Given the description of an element on the screen output the (x, y) to click on. 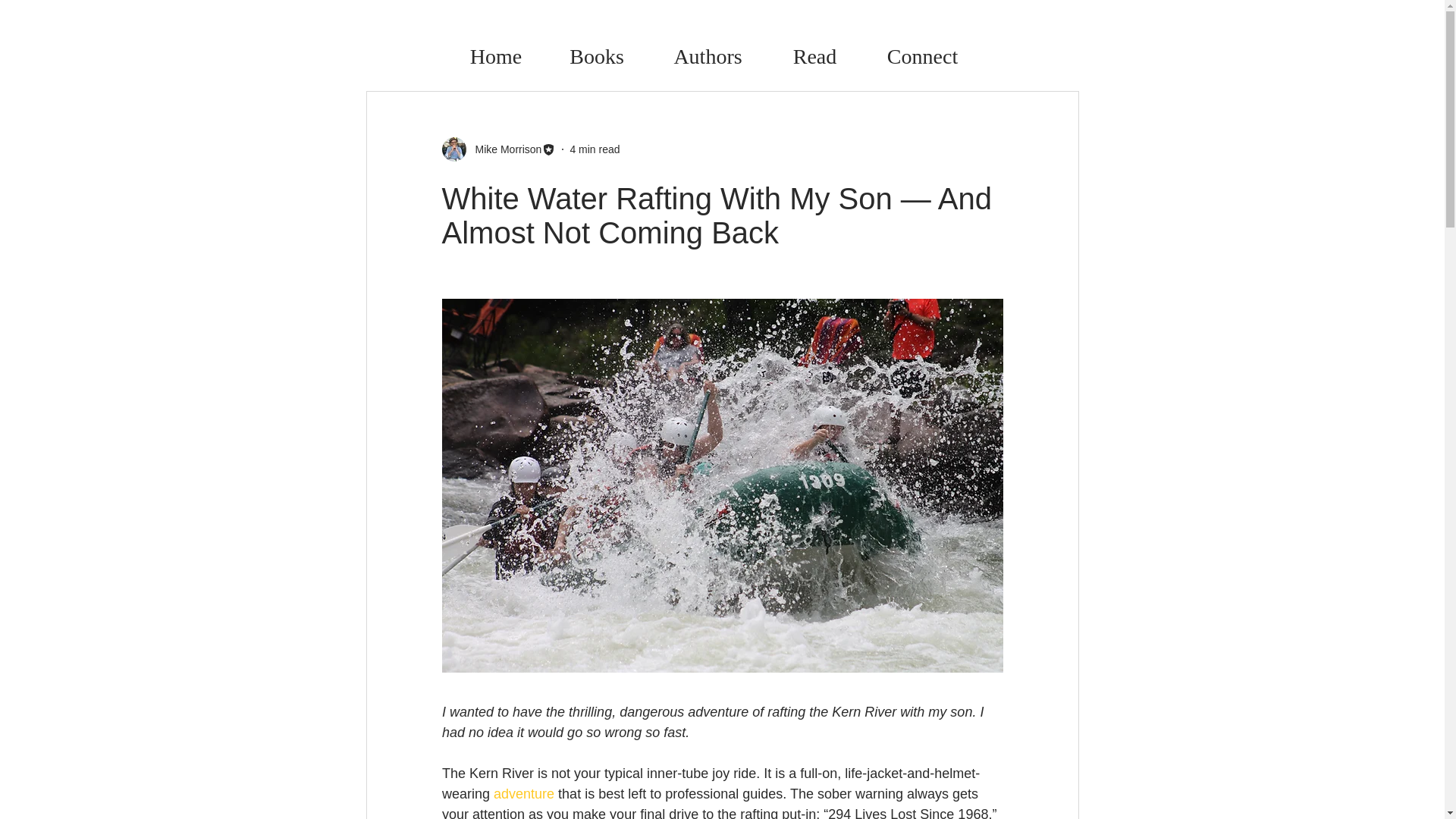
Home (494, 56)
Connect (921, 56)
Authors (707, 56)
Mike Morrison (503, 148)
4 min read (594, 148)
Read (814, 56)
adventure (523, 793)
